Given the description of an element on the screen output the (x, y) to click on. 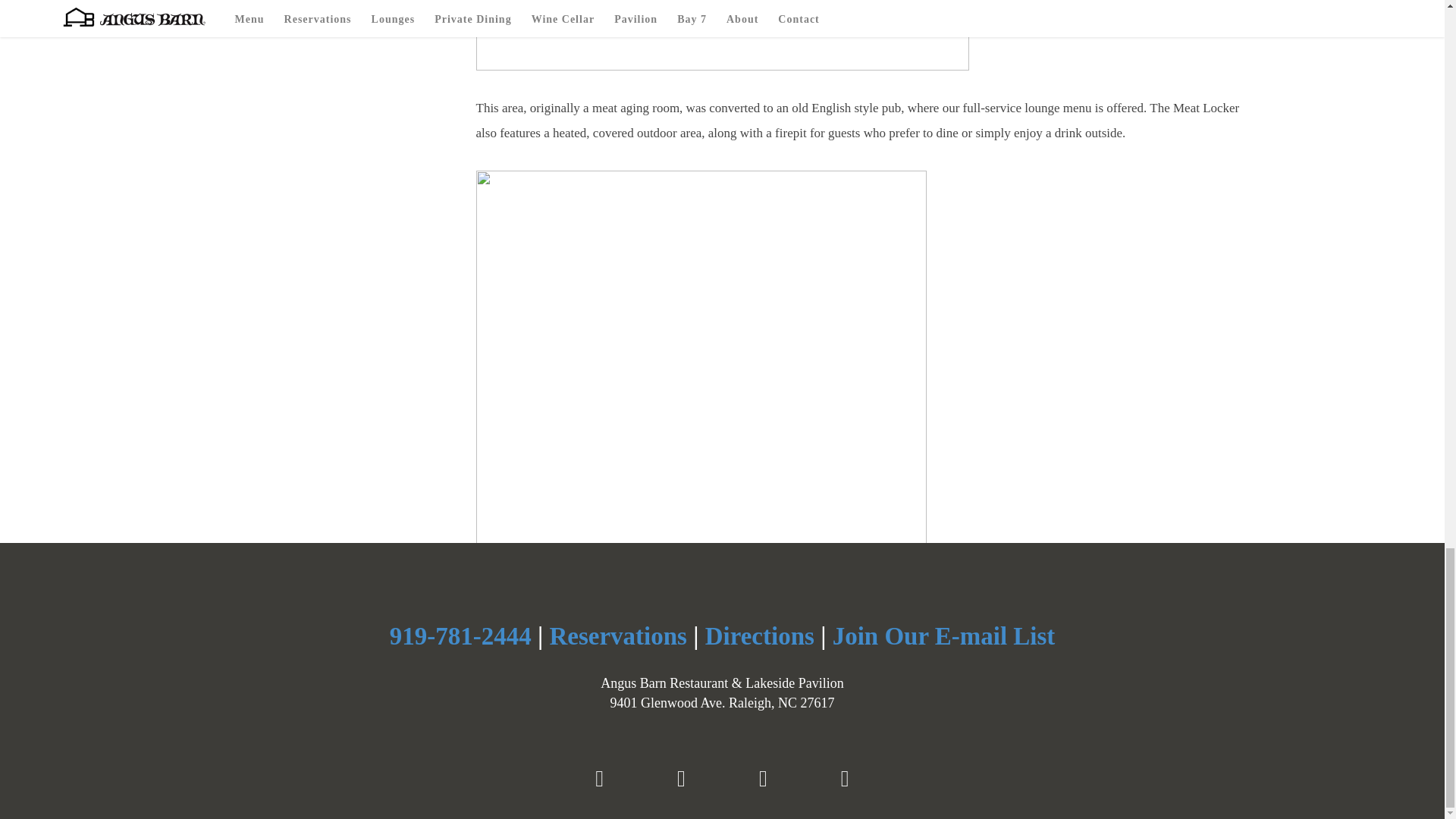
919-781-2444 (460, 636)
Join Our E-mail List (943, 636)
Reservations (616, 636)
Reservations (616, 636)
919-781-2444 (460, 636)
Directions (758, 636)
E-mail List (943, 636)
Directions (758, 636)
